Given the description of an element on the screen output the (x, y) to click on. 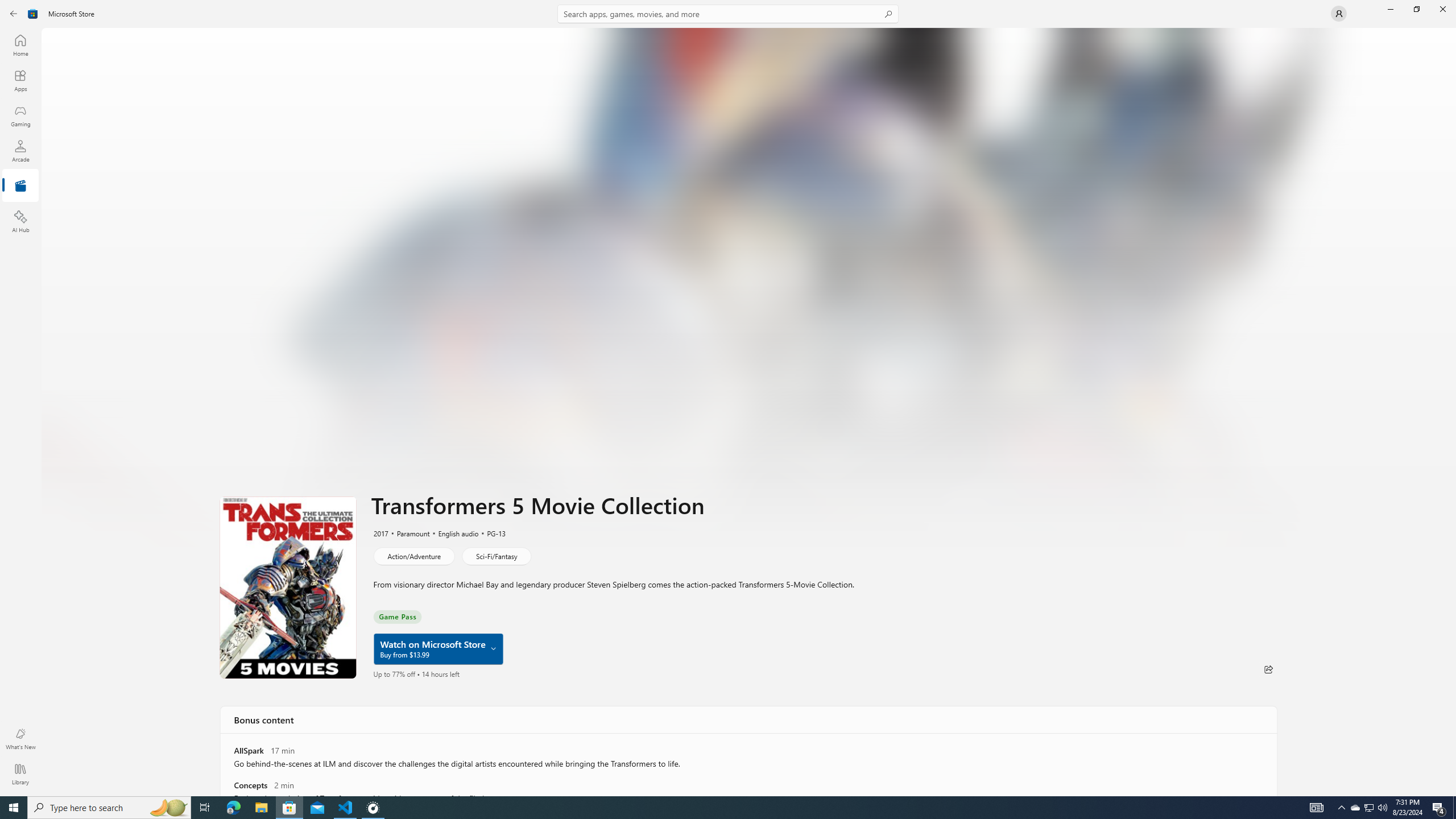
Back (13, 13)
Watch on Microsoft Store Buy from $13.99 (437, 649)
English audio (453, 533)
Paramount (408, 533)
Action/Adventure (413, 556)
Sci-Fi/Fantasy (496, 556)
Share (1267, 669)
